Given the description of an element on the screen output the (x, y) to click on. 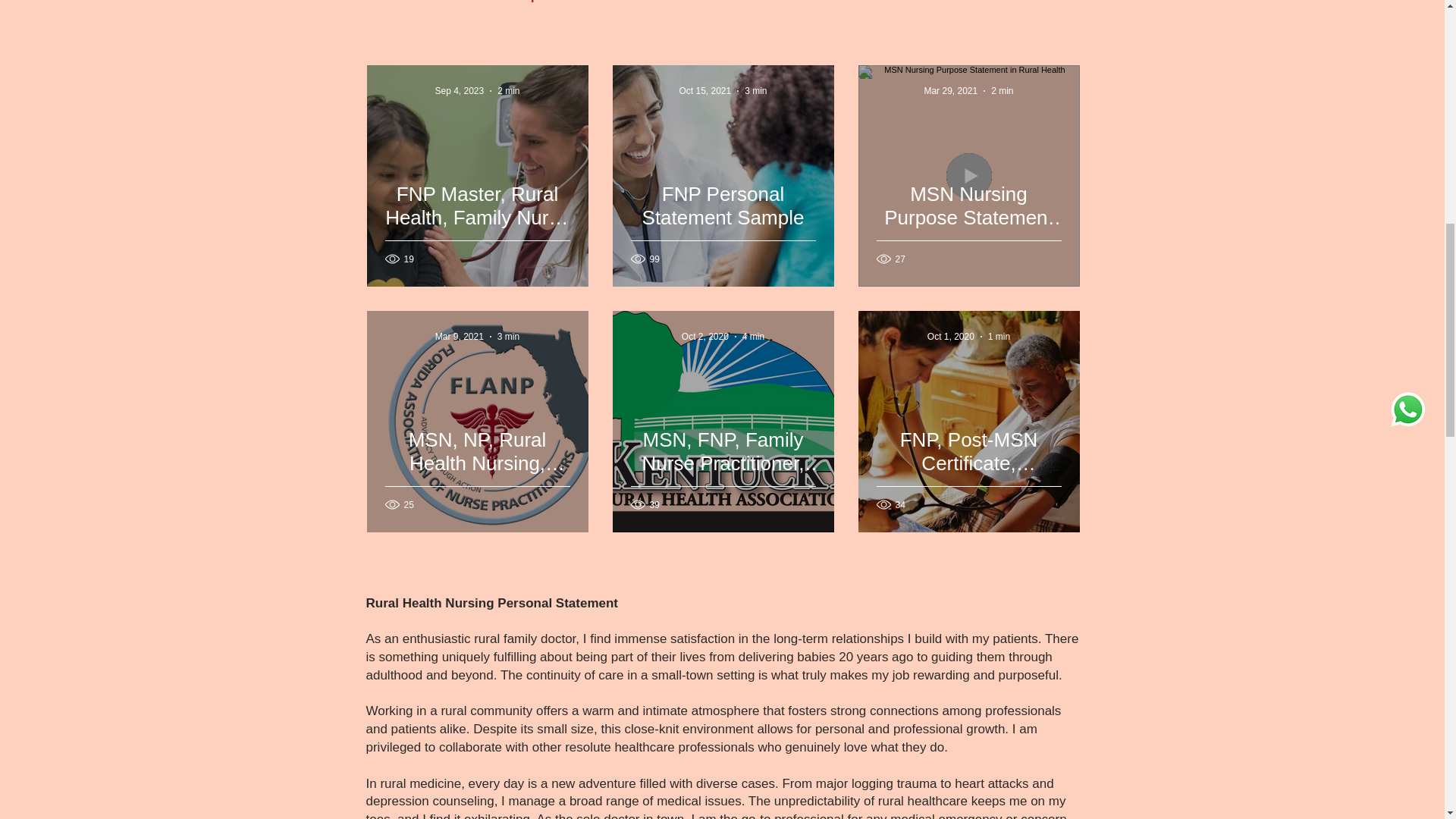
Oct 15, 2021 (704, 90)
3 min (508, 336)
2 min (508, 90)
Mar 9, 2021 (459, 336)
Oct 2, 2020 (705, 336)
Sep 4, 2023 (458, 90)
3 min (755, 90)
Mar 29, 2021 (949, 90)
Oct 1, 2020 (950, 336)
2 min (1002, 90)
